Given the description of an element on the screen output the (x, y) to click on. 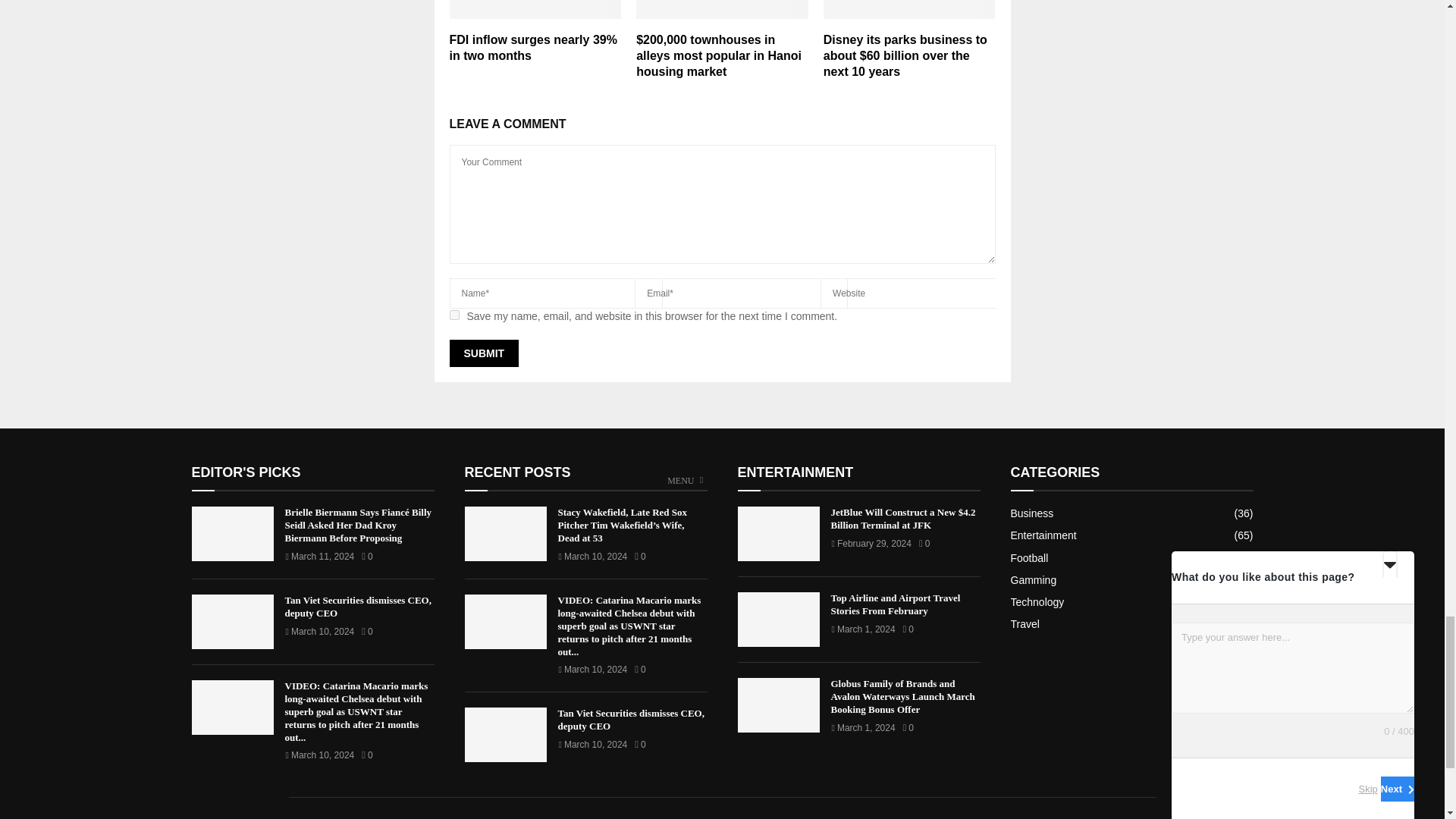
yes (453, 315)
Submit (483, 352)
